Given the description of an element on the screen output the (x, y) to click on. 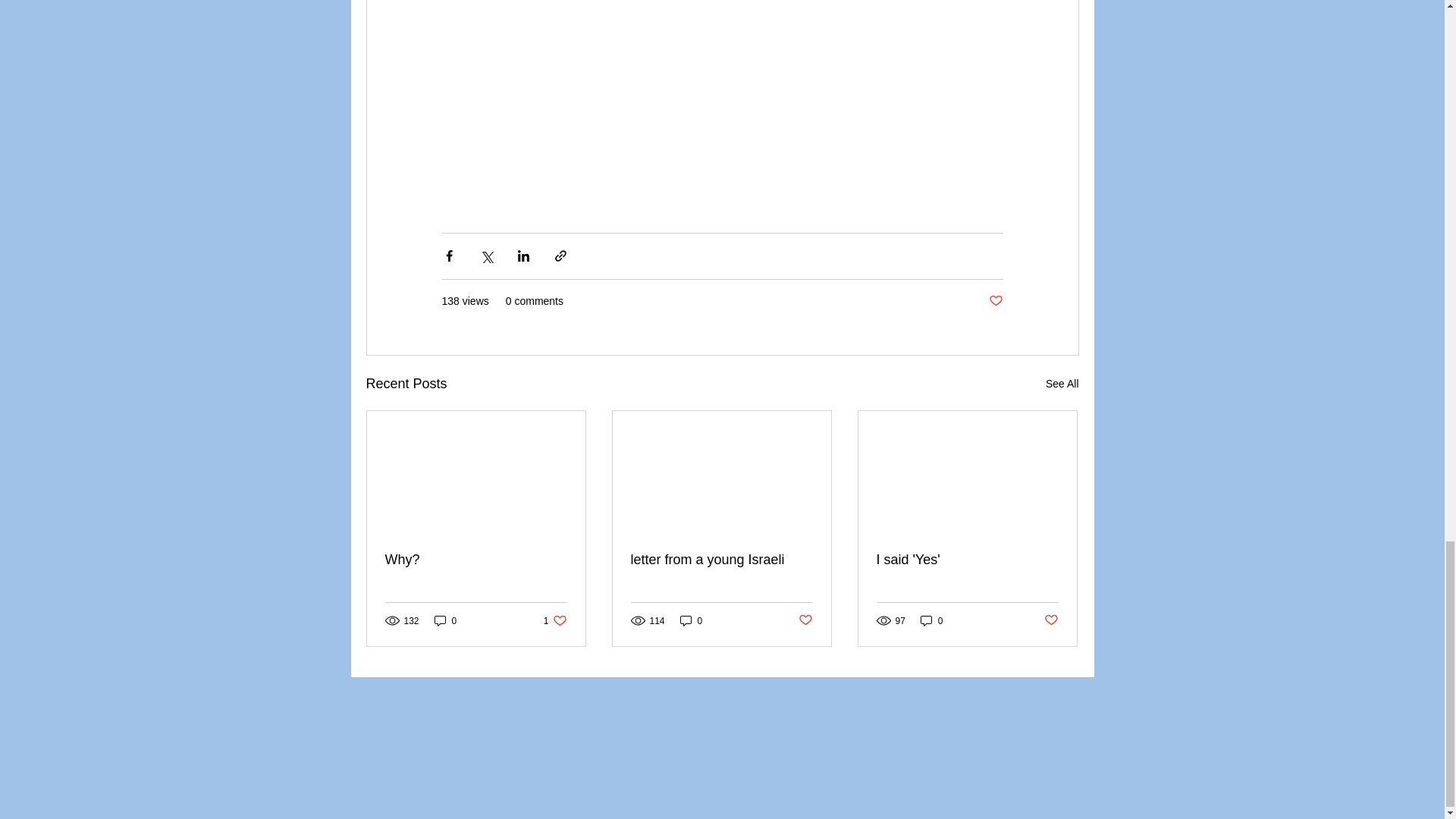
letter from a young Israeli (721, 560)
0 (445, 620)
Post not marked as liked (995, 300)
Why? (476, 560)
See All (1061, 383)
